Given the description of an element on the screen output the (x, y) to click on. 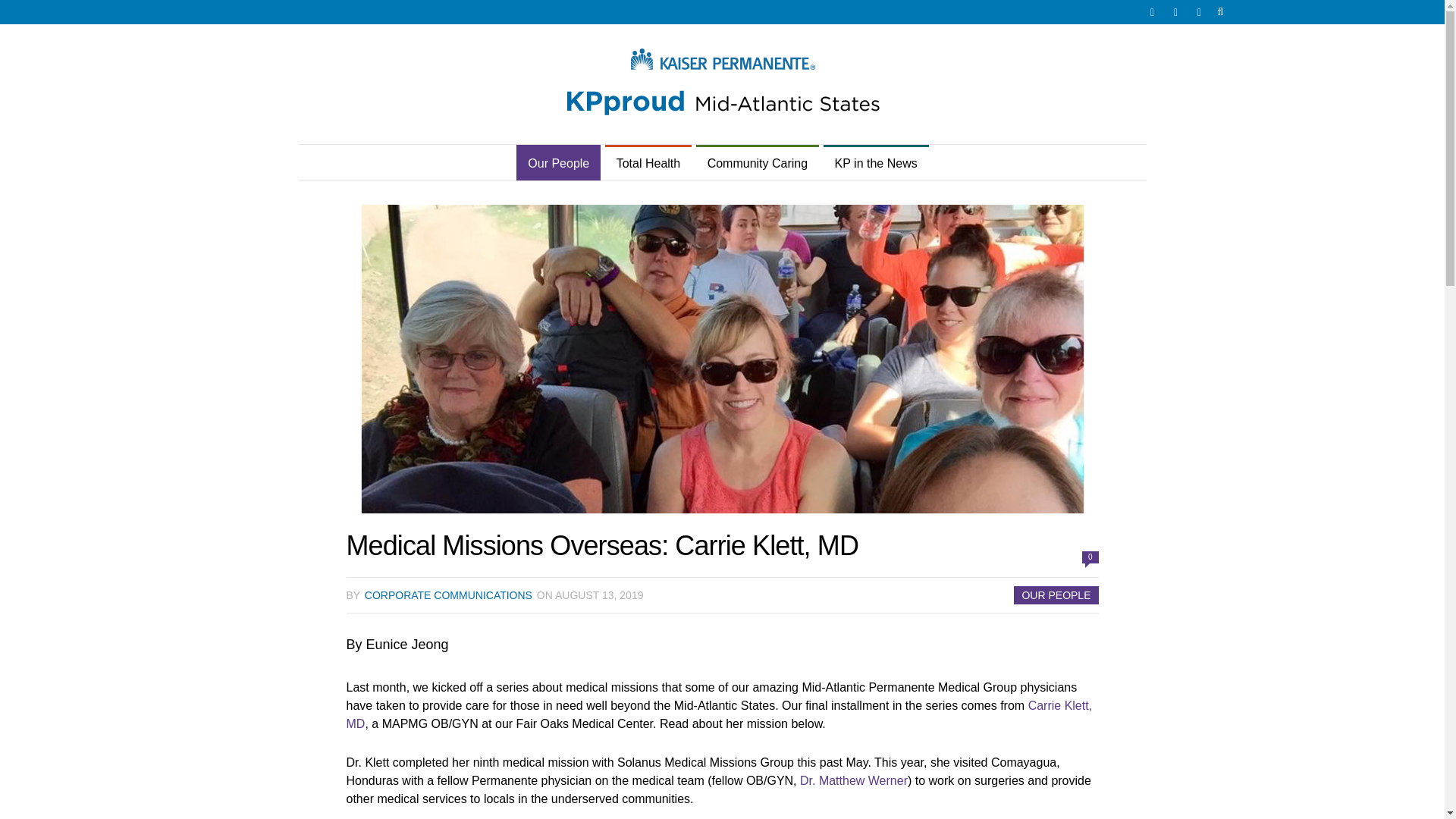
Dr. Matthew Werner (853, 780)
Total Health (649, 163)
Our People (557, 163)
CORPORATE COMMUNICATIONS (448, 594)
KP in the News (876, 163)
Community Caring (756, 163)
OUR PEOPLE (1056, 594)
Twitter (1151, 12)
Carrie Klett, MD (719, 714)
Kaiser Permanente KPproud Mid-Atlantic States (721, 84)
Posts by Corporate Communications (448, 594)
RSS (1199, 12)
Facebook (1174, 12)
